Given the description of an element on the screen output the (x, y) to click on. 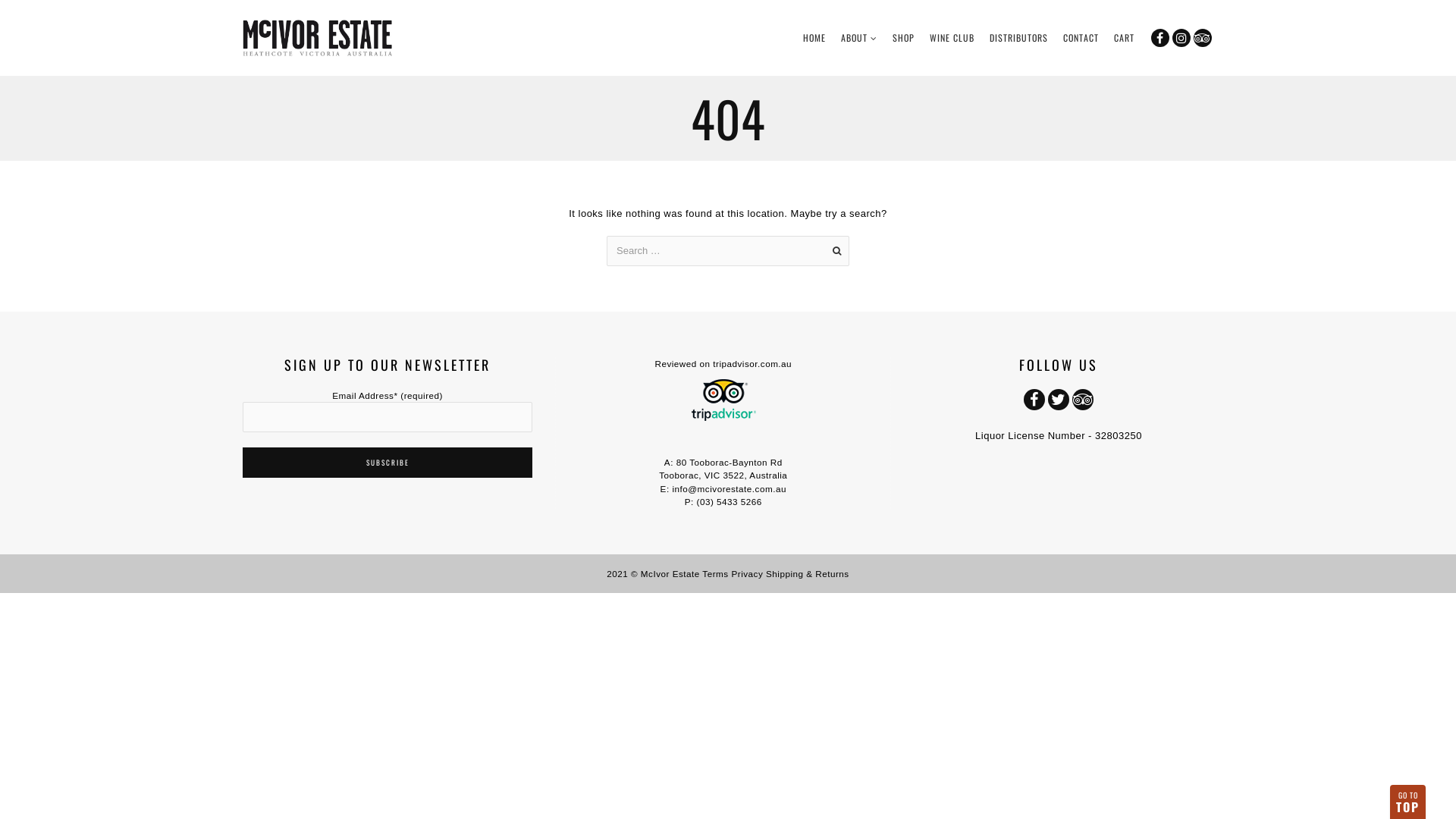
Subscribe Element type: text (387, 462)
info@mcivorestate.com.au Element type: text (728, 488)
(03) 5433 5266 Element type: text (729, 501)
CONTACT Element type: text (1080, 37)
HOME Element type: text (814, 37)
DISTRIBUTORS Element type: text (1018, 37)
Shipping & Returns Element type: text (807, 573)
SHOP Element type: text (903, 37)
Terms Element type: text (715, 573)
WINE CLUB Element type: text (951, 37)
ABOUT Element type: text (858, 37)
Reviewed on tripadvisor.com.au Element type: text (722, 363)
Go Element type: hover (836, 250)
CART Element type: text (1123, 37)
Privacy Element type: text (746, 573)
